Given the description of an element on the screen output the (x, y) to click on. 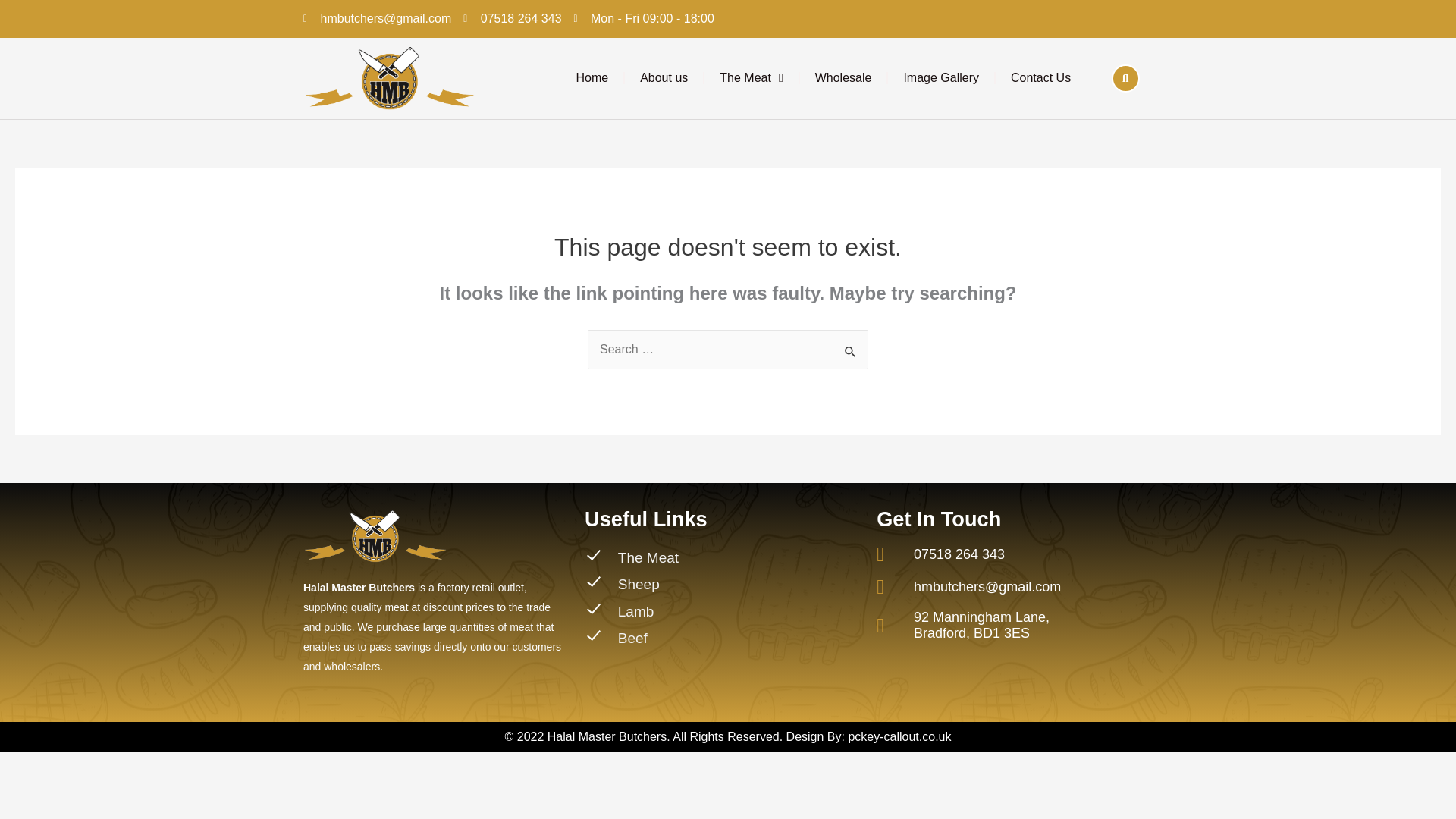
Lamb (723, 613)
Image Gallery (941, 77)
About us (663, 77)
Contact Us (1040, 77)
Beef (723, 639)
Wholesale (842, 77)
The Meat (750, 77)
Sheep (723, 587)
Home (591, 77)
The Meat (723, 561)
